Given the description of an element on the screen output the (x, y) to click on. 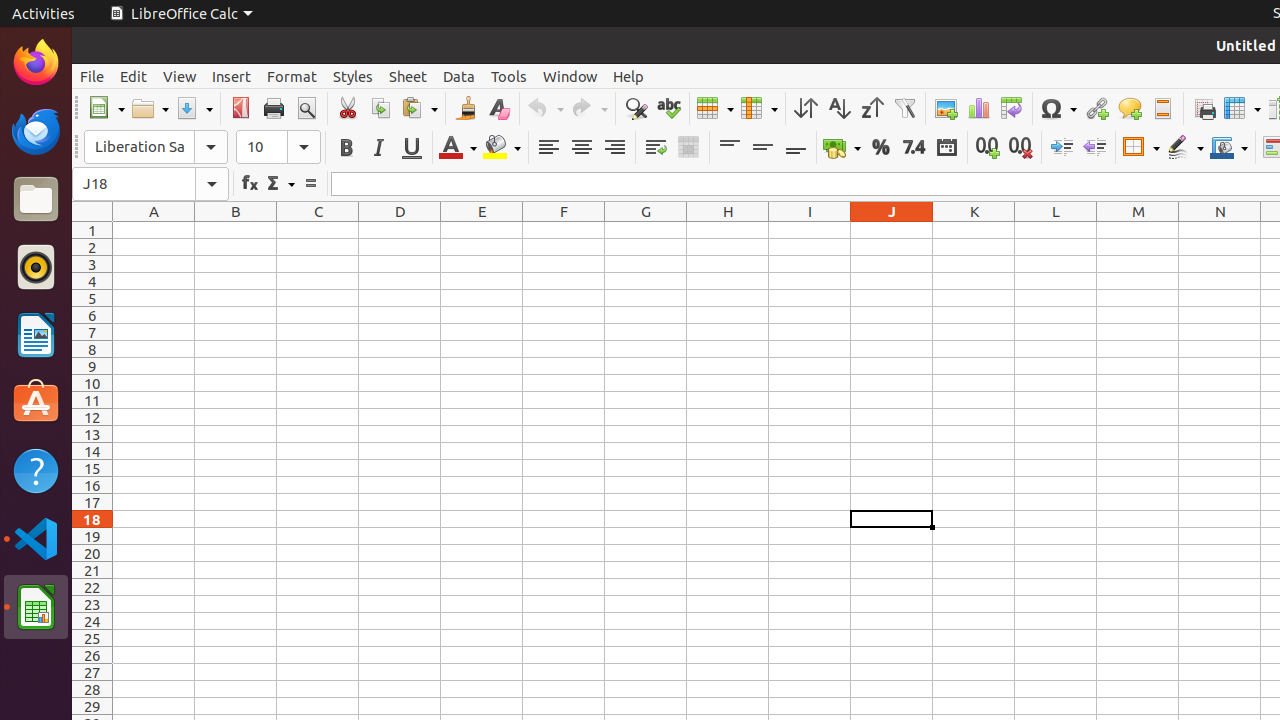
Trash Element type: label (133, 191)
Undo Element type: push-button (545, 108)
Align Top Element type: push-button (729, 147)
Percent Element type: push-button (880, 147)
Function Wizard Element type: push-button (249, 183)
